Given the description of an element on the screen output the (x, y) to click on. 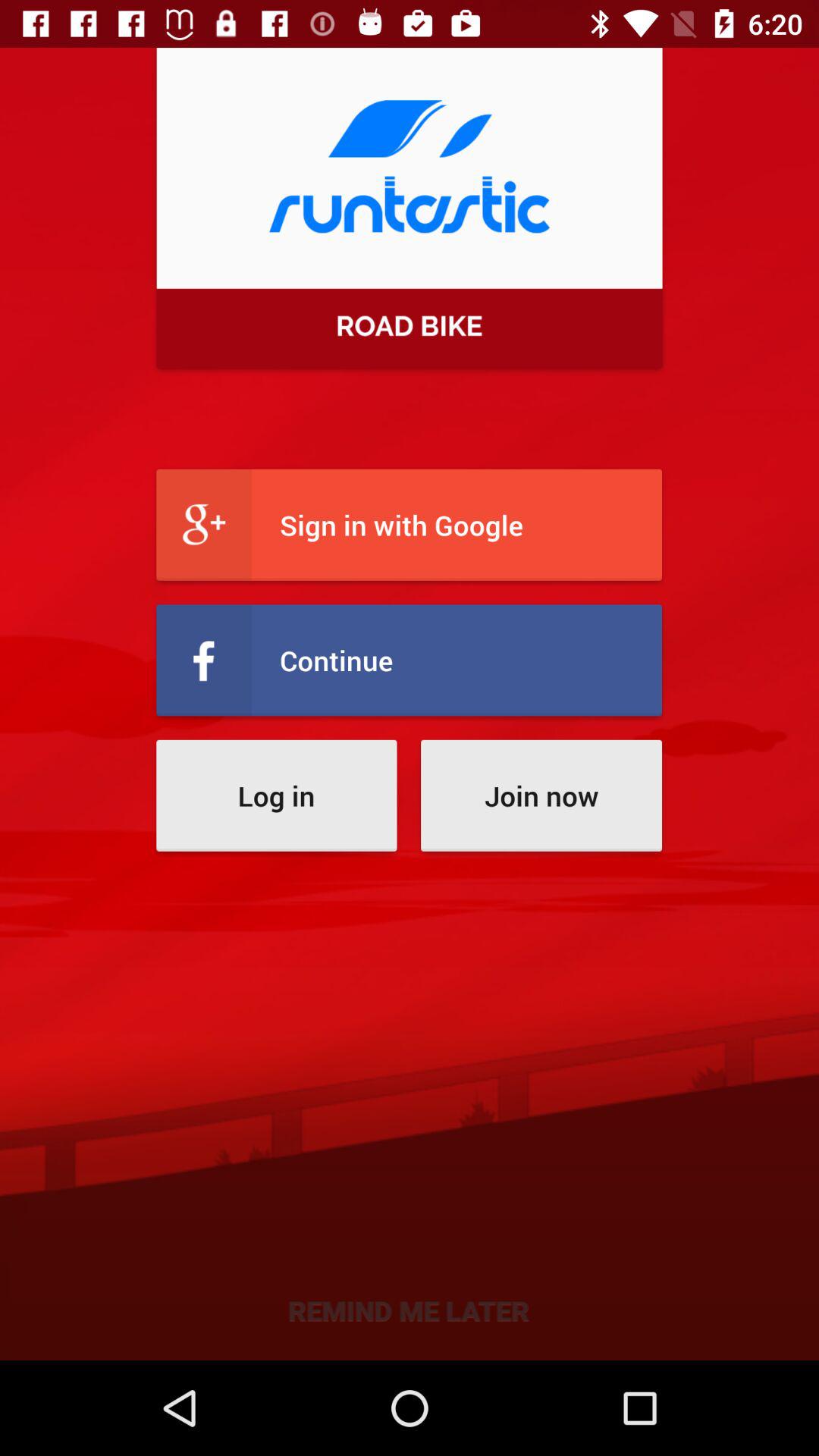
turn off the icon above the remind me later (541, 795)
